Given the description of an element on the screen output the (x, y) to click on. 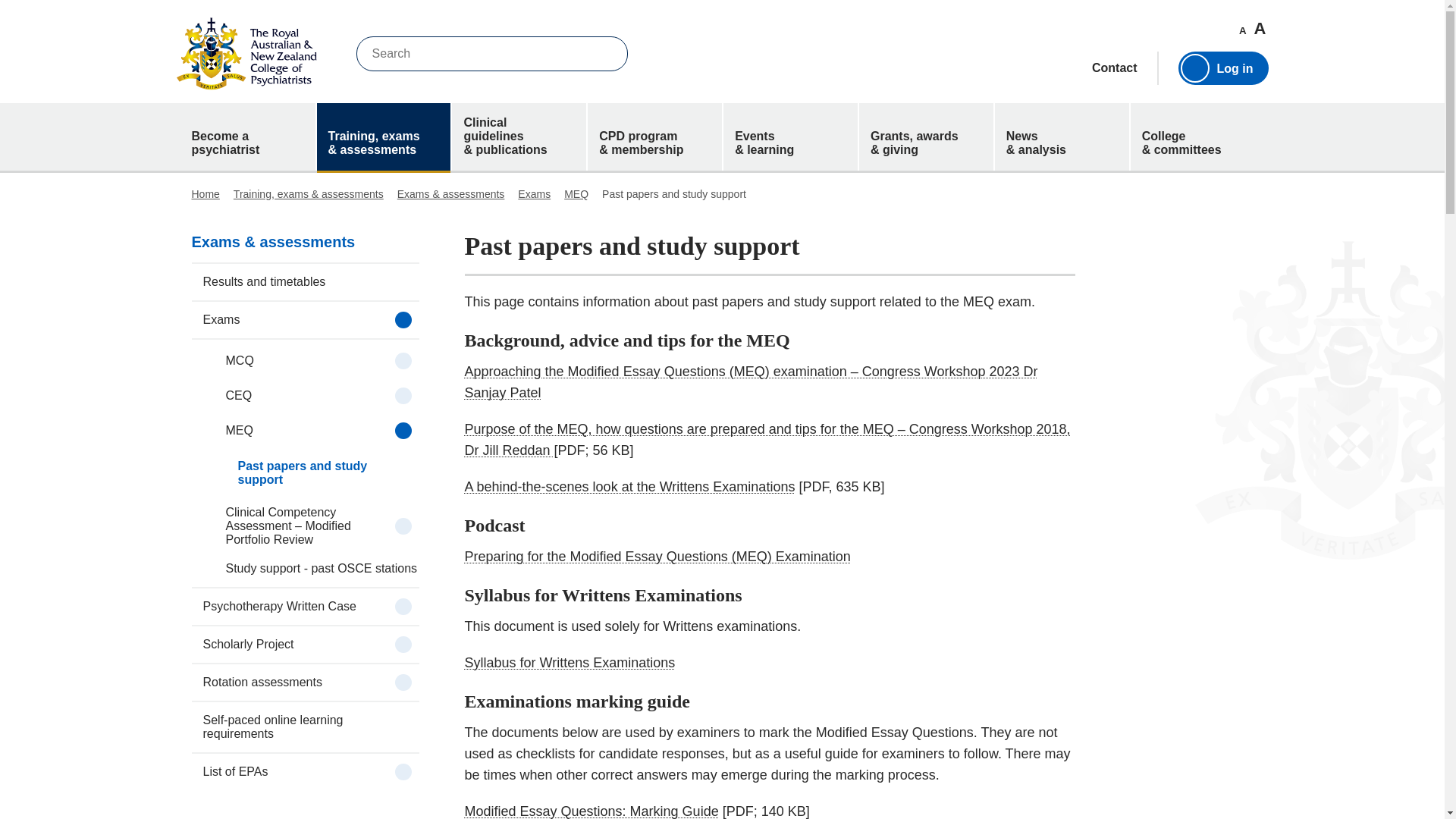
Log in (1222, 68)
Search (605, 53)
Become a psychiatrist (247, 136)
A (1242, 30)
Contact (1114, 68)
RANZCP homepage (245, 53)
